Given the description of an element on the screen output the (x, y) to click on. 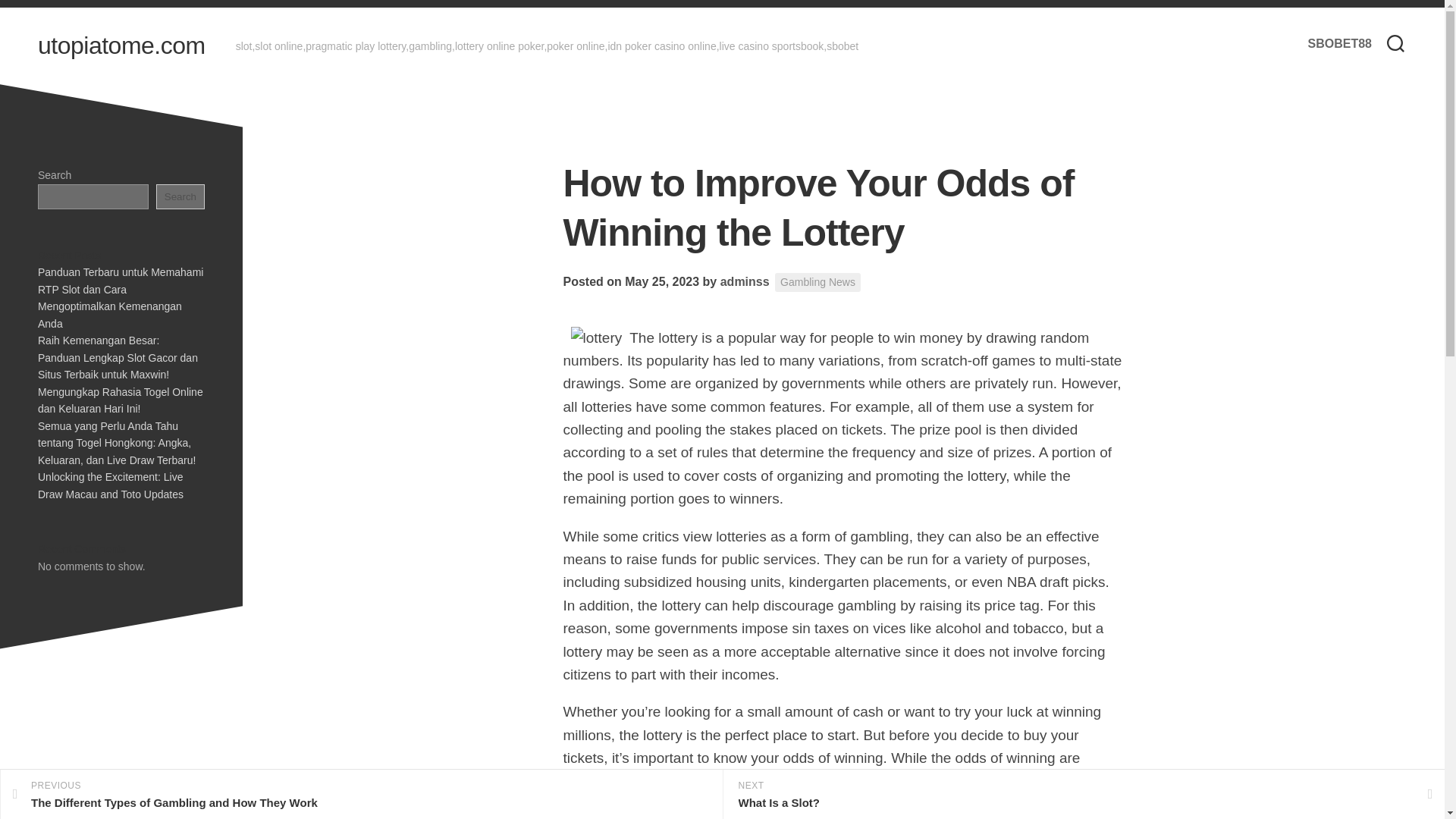
Unlocking the Excitement: Live Draw Macau and Toto Updates (110, 485)
adminss (745, 281)
Search (180, 195)
utopiatome.com (121, 44)
SBOBET88 (1339, 43)
Posts by adminss (745, 281)
Gambling News (817, 281)
Mengungkap Rahasia Togel Online dan Keluaran Hari Ini! (120, 399)
